Given the description of an element on the screen output the (x, y) to click on. 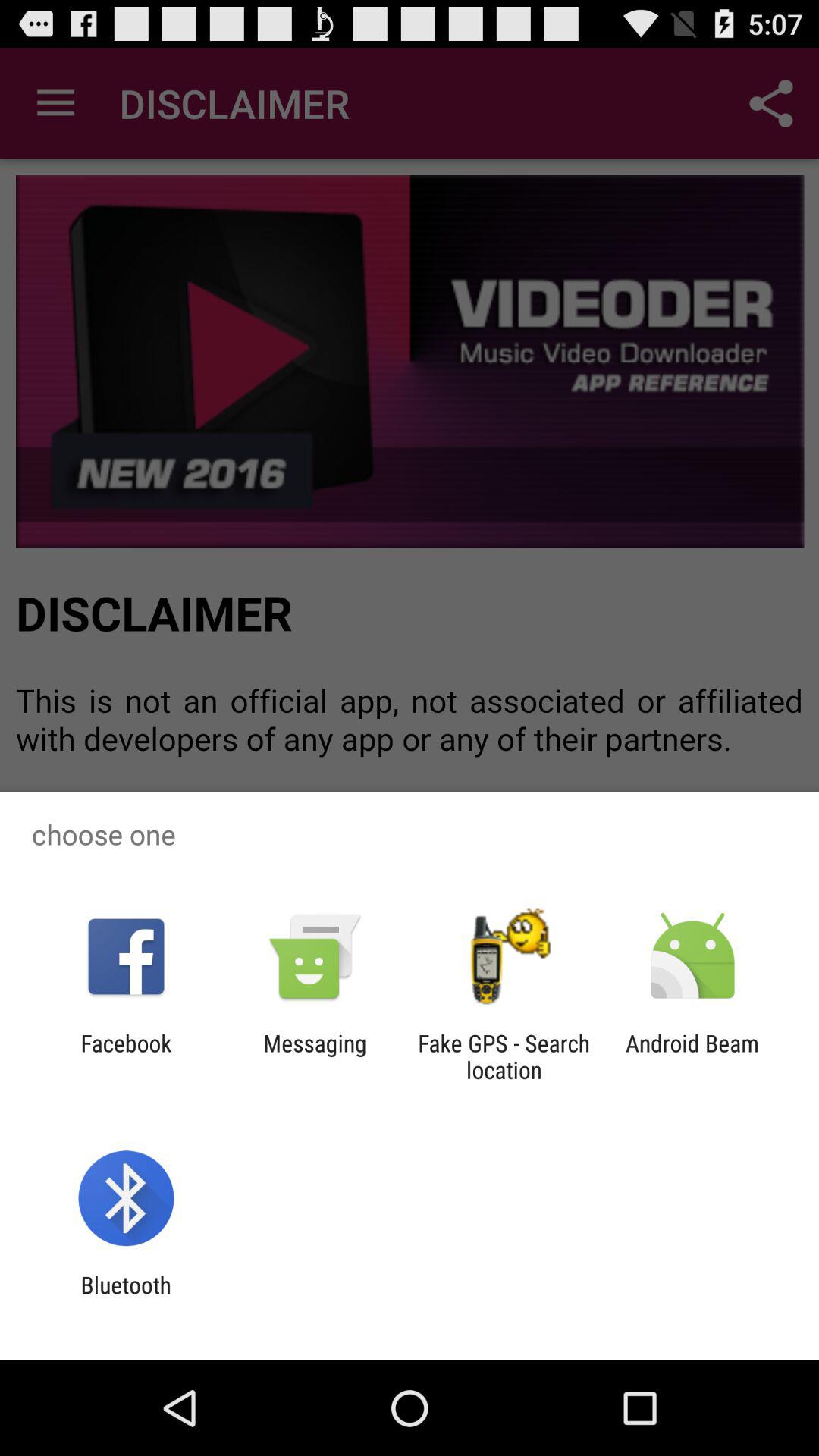
launch the icon to the right of the fake gps search (692, 1056)
